Given the description of an element on the screen output the (x, y) to click on. 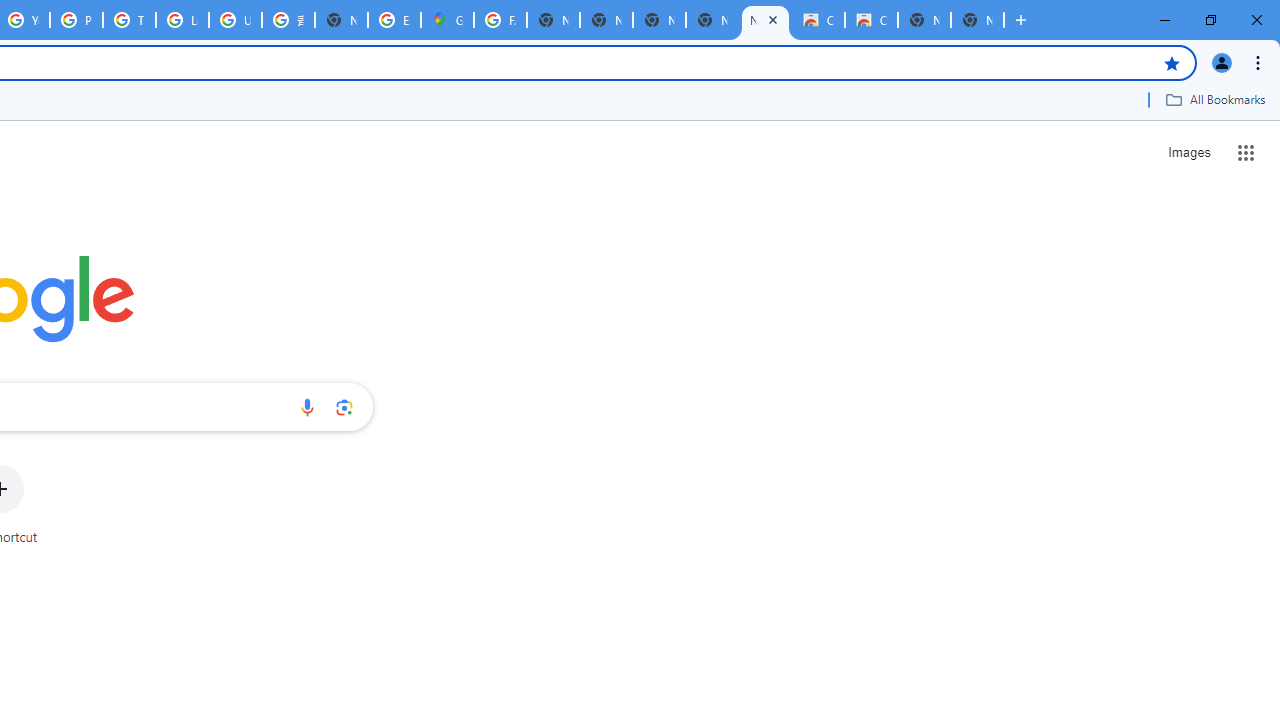
Classic Blue - Chrome Web Store (871, 20)
Explore new street-level details - Google Maps Help (394, 20)
